Given the description of an element on the screen output the (x, y) to click on. 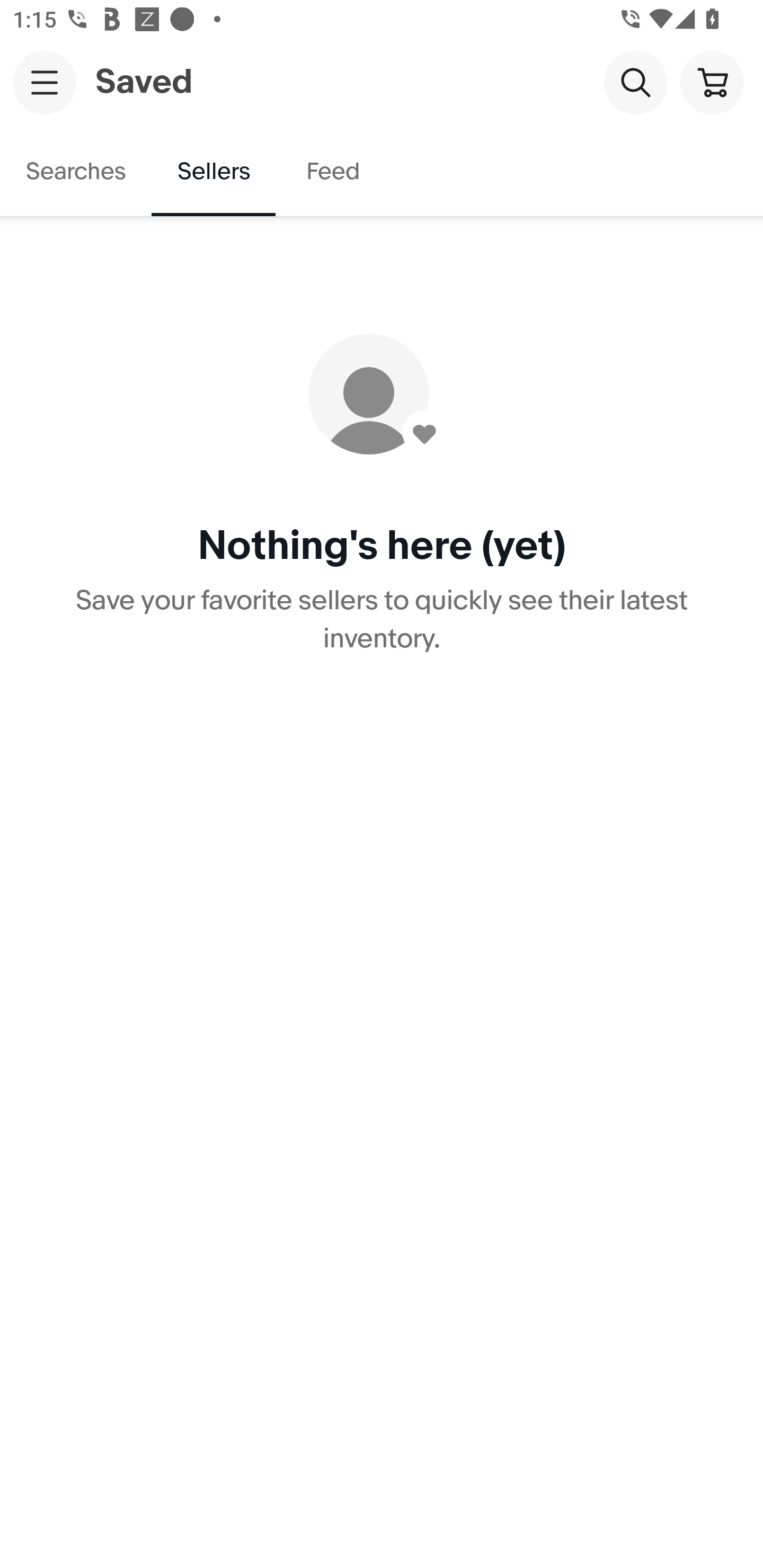
Main navigation, open (44, 82)
Search (635, 81)
Cart button shopping cart (711, 81)
Searches (75, 171)
Feed (332, 171)
